Given the description of an element on the screen output the (x, y) to click on. 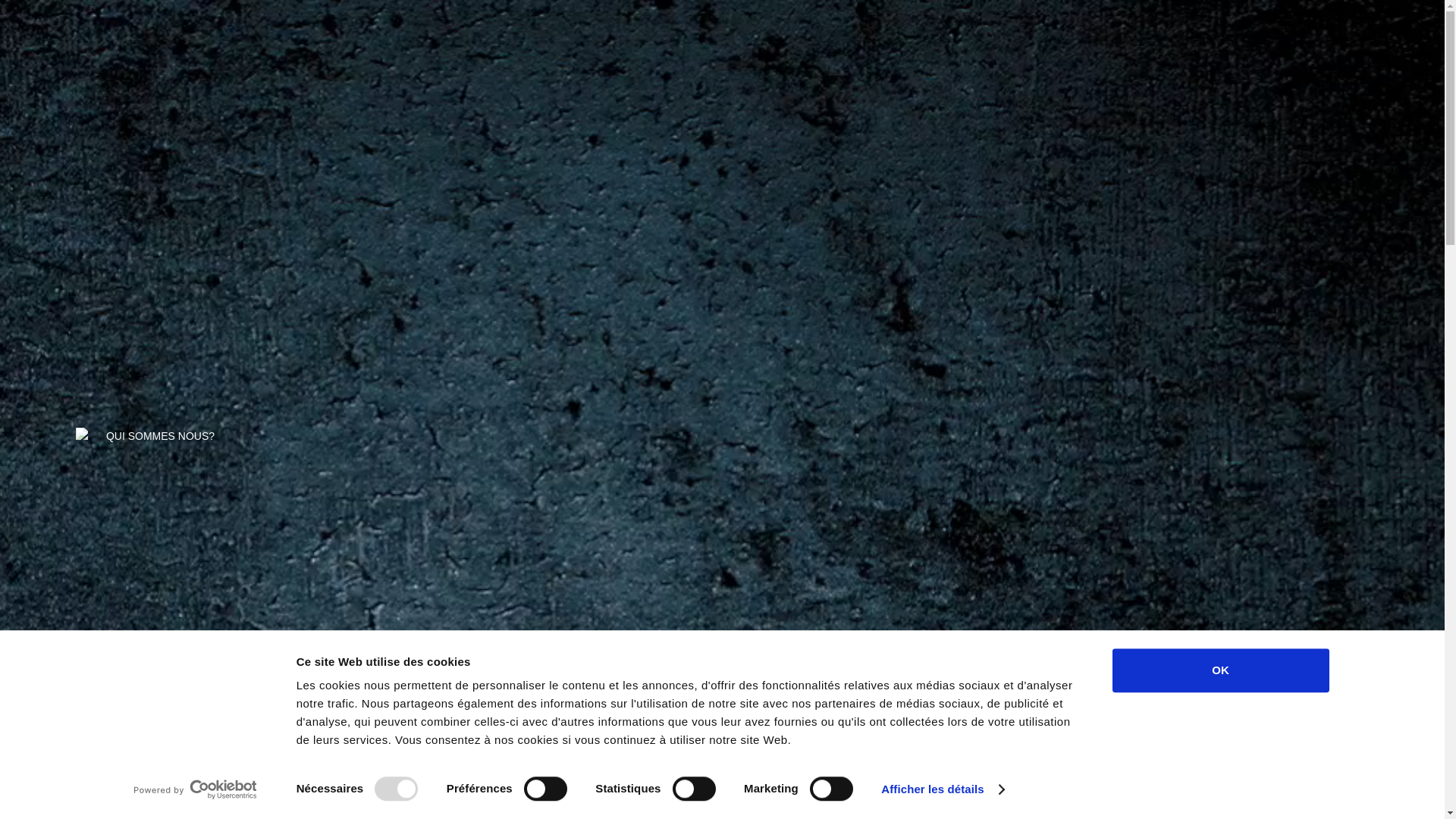
FR Element type: text (29, 63)
Carte Element type: text (832, 182)
Accueil Element type: text (713, 182)
ARCHIVES Element type: text (1265, 170)
OK Element type: text (1219, 670)
PARTENAIRES Element type: text (1179, 170)
DIVERCITY 2023 Element type: text (1026, 170)
Aller au contenu principal Element type: text (0, 0)
DIVERCITY 2022 Element type: text (1355, 170)
QUI SOMMES NOUS? Element type: text (910, 170)
 Facebook Element type: text (884, 315)
NL Element type: text (57, 63)
 Twitter Element type: text (723, 315)
 Instagram Element type: text (560, 315)
Mail Element type: text (602, 182)
CBDC Element type: text (1105, 170)
